Given the description of an element on the screen output the (x, y) to click on. 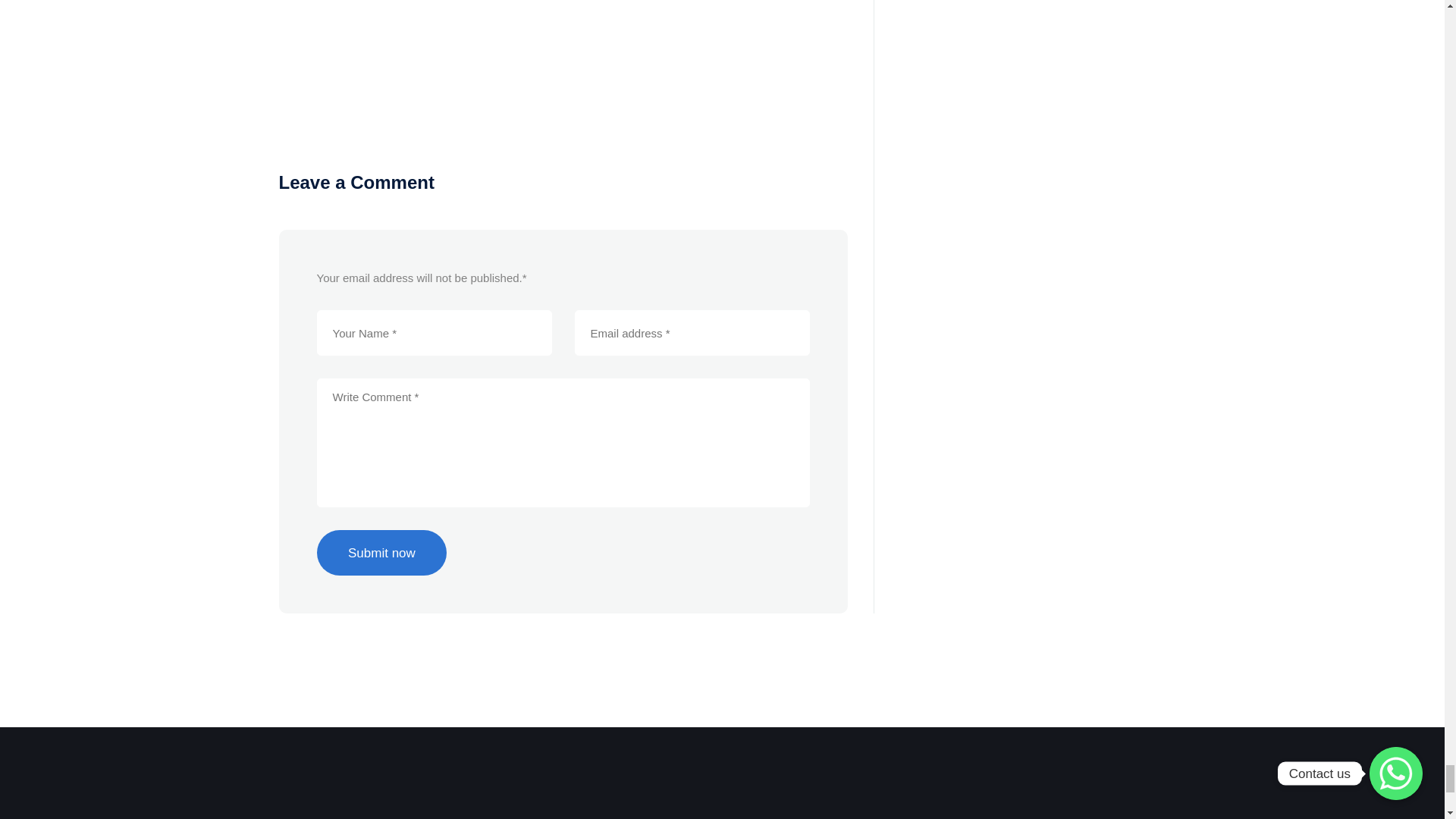
Bahama Bay kissimmee (563, 61)
